Given the description of an element on the screen output the (x, y) to click on. 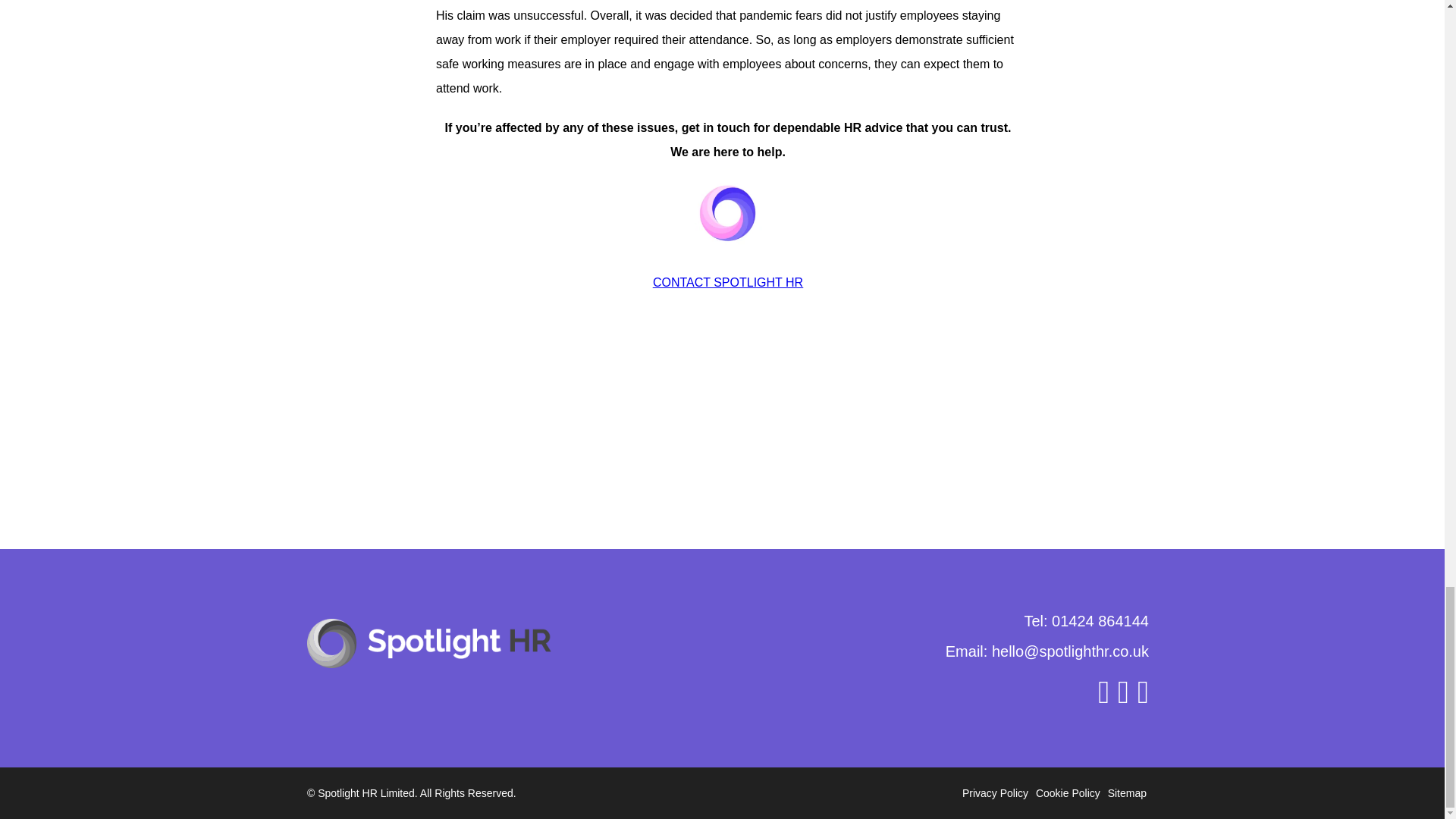
Sitemap (1127, 793)
CONTACT SPOTLIGHT HR (727, 282)
Privacy Policy (994, 793)
Cookie Policy (1067, 793)
01424 864144 (1099, 620)
